Given the description of an element on the screen output the (x, y) to click on. 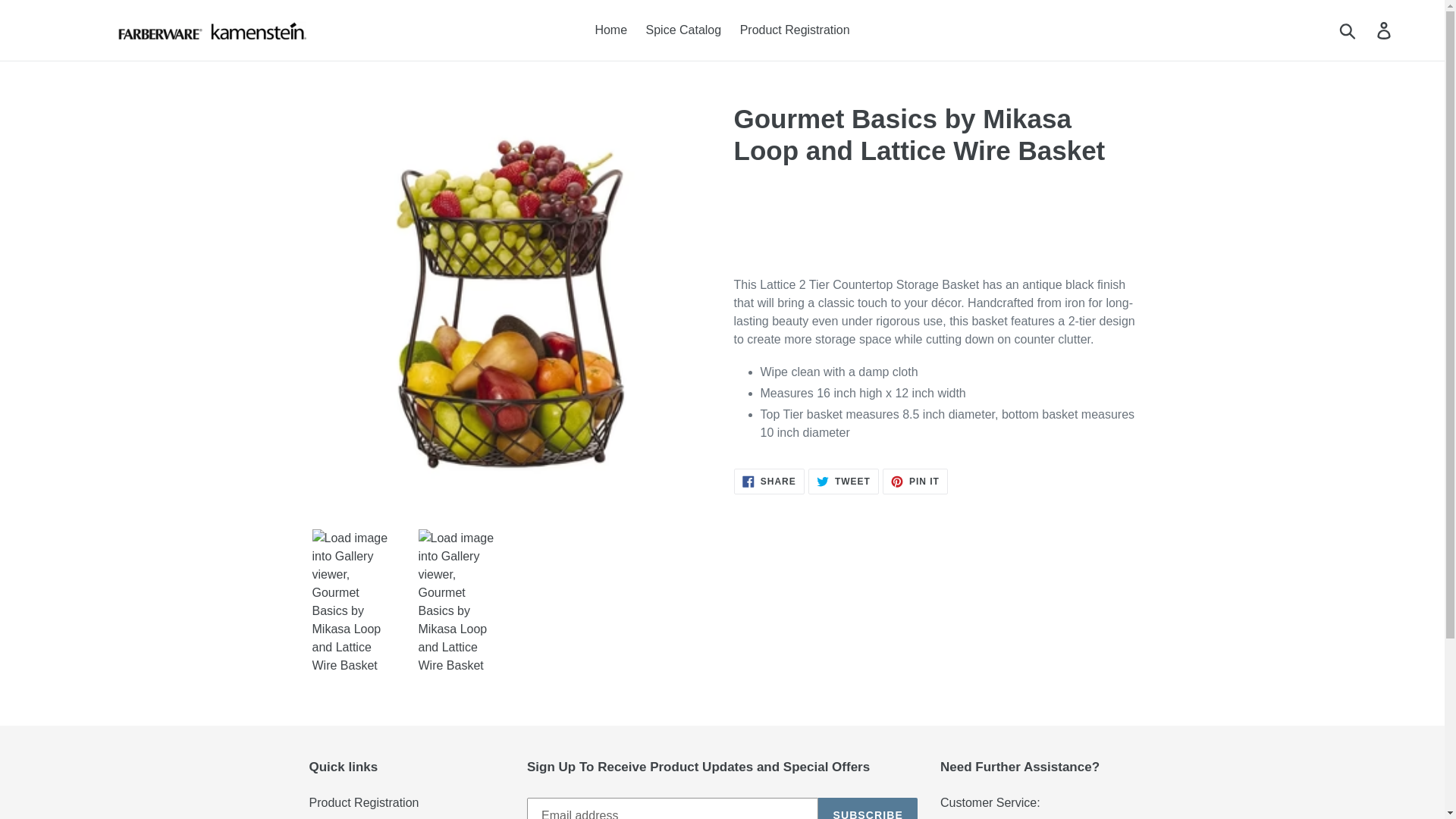
Product Registration (794, 29)
Submit (1348, 29)
SUBSCRIBE (843, 481)
Spice Catalog (867, 808)
Home (684, 29)
Product Registration (769, 481)
Log in (914, 481)
